Given the description of an element on the screen output the (x, y) to click on. 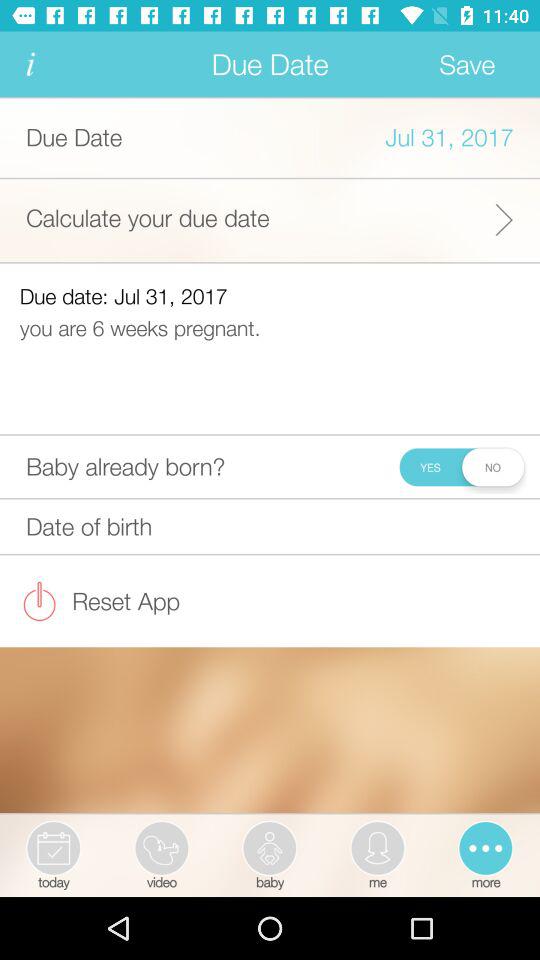
show information (30, 63)
